Given the description of an element on the screen output the (x, y) to click on. 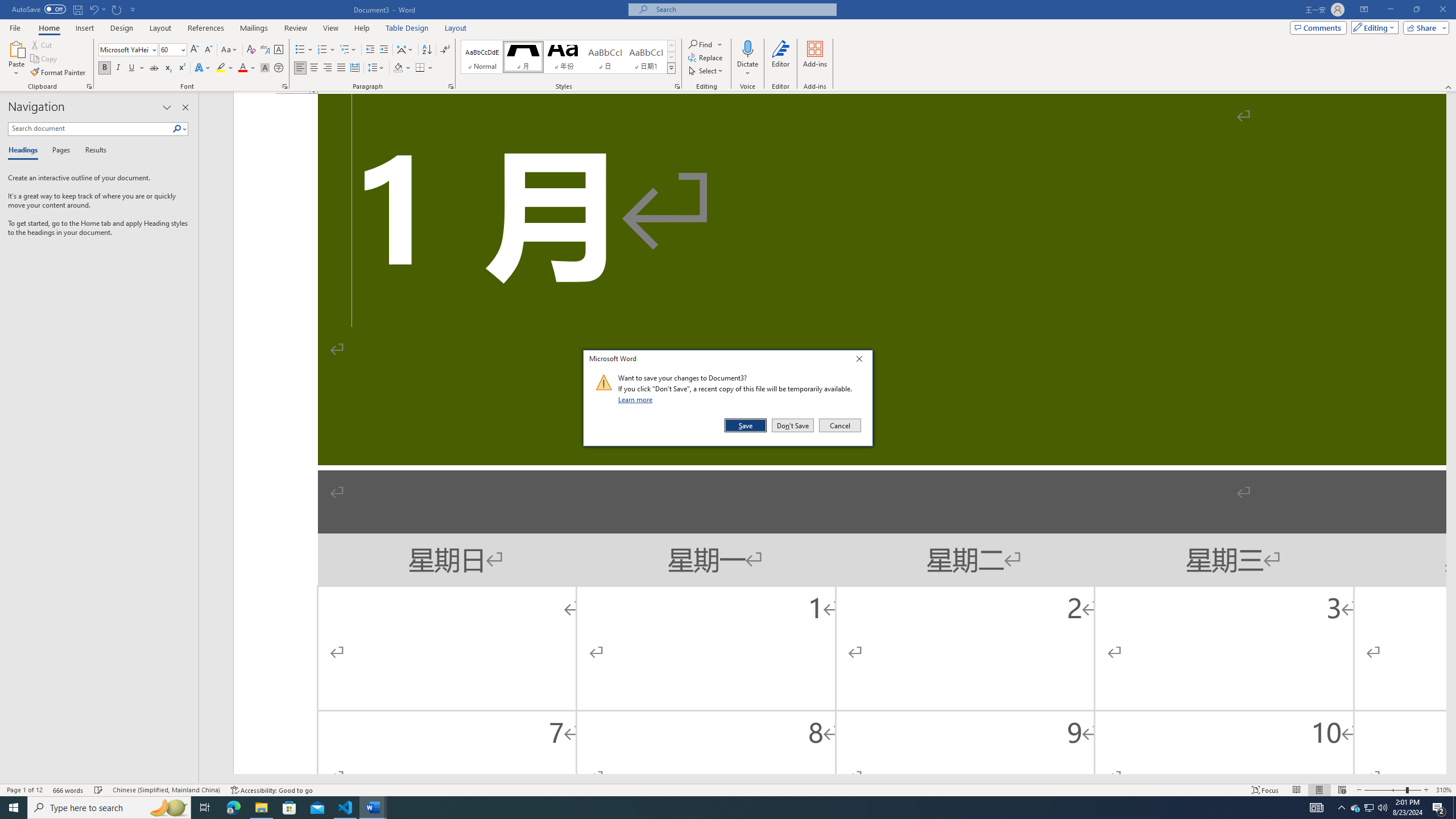
Align Left (300, 67)
Row Down (670, 56)
Search document (89, 128)
Shading RGB(0, 0, 0) (397, 67)
Paragraph... (450, 85)
Strikethrough (154, 67)
Cancel (839, 425)
Start (13, 807)
